Given the description of an element on the screen output the (x, y) to click on. 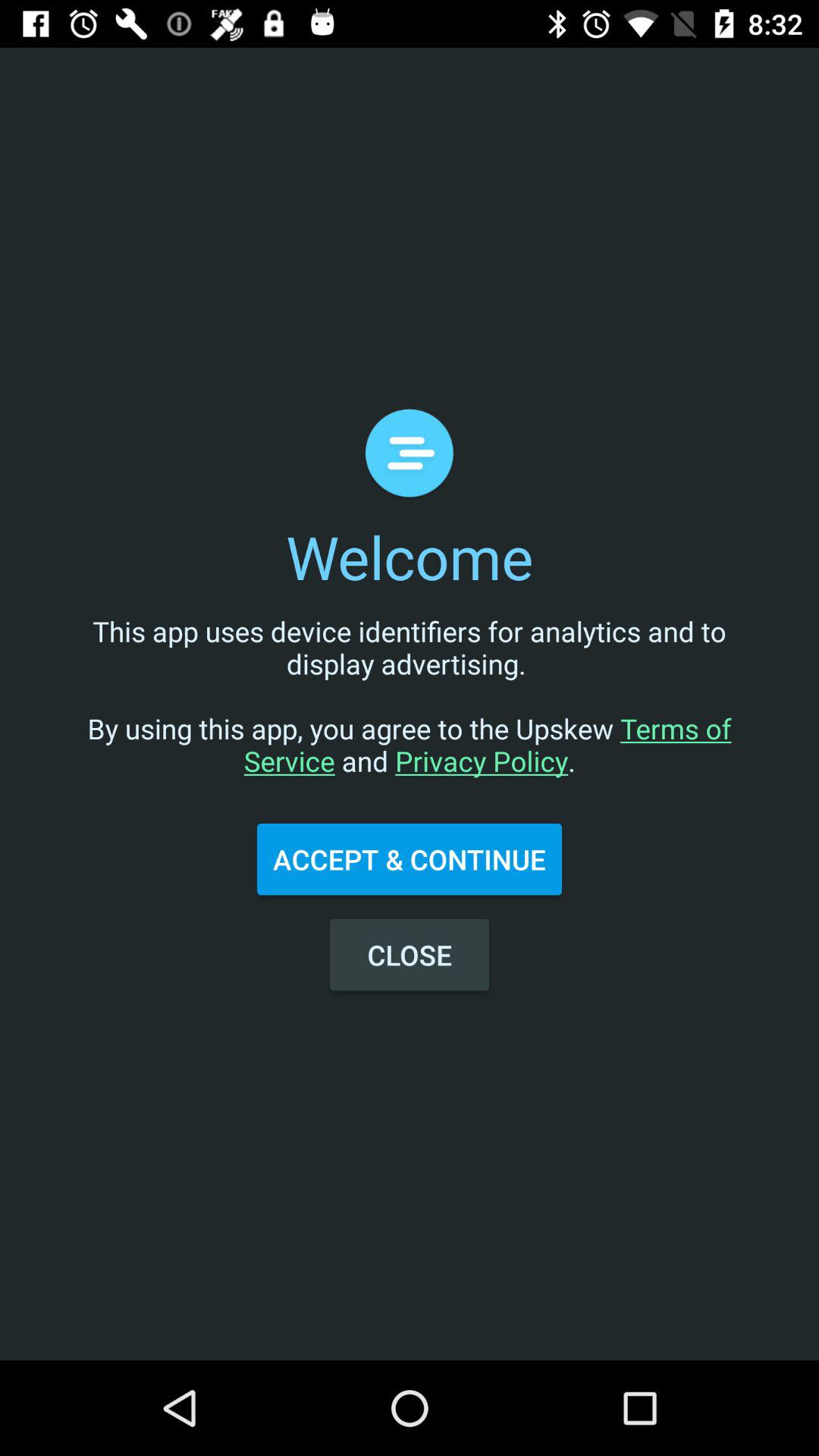
click icon above the accept & continue (409, 711)
